Given the description of an element on the screen output the (x, y) to click on. 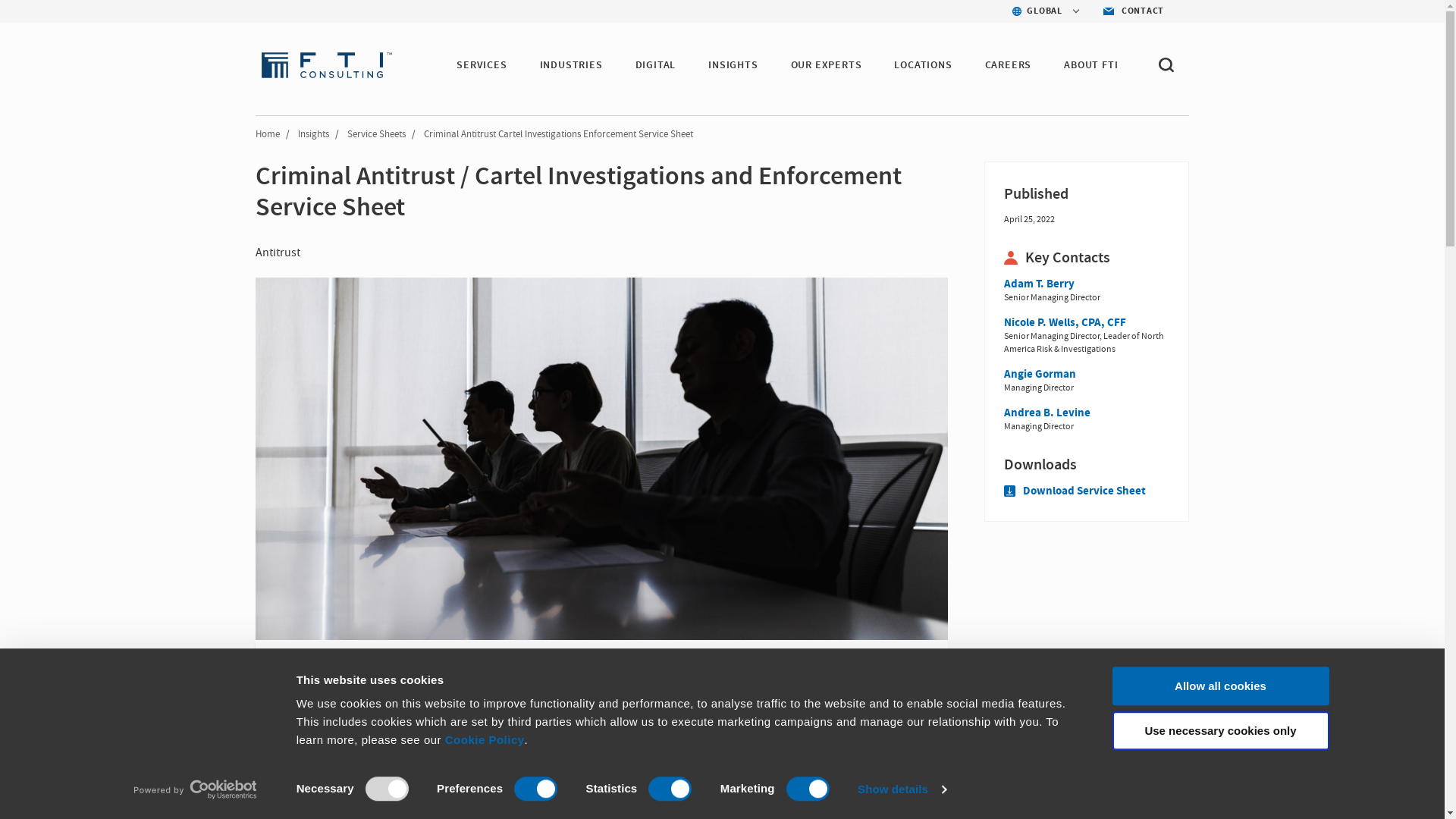
Cookie Policy (484, 739)
Show details (900, 789)
